Given the description of an element on the screen output the (x, y) to click on. 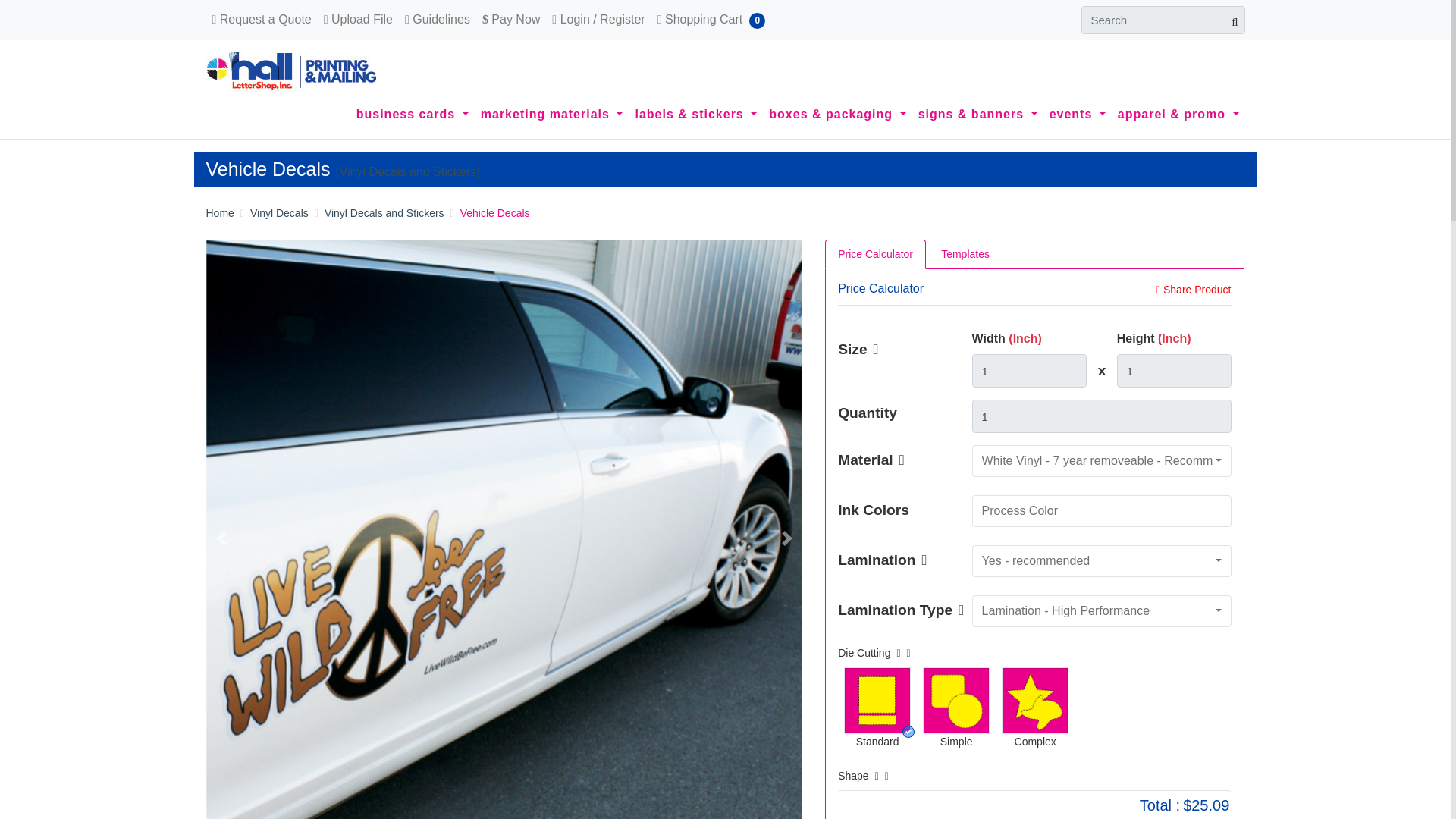
1 (1101, 416)
1 (1029, 370)
marketing materials (551, 114)
Request a Quote (261, 19)
Lamination - High Performance (1101, 611)
Pay Now (511, 19)
Guidelines (437, 19)
Upload File (357, 19)
Shopping Cart  0 (710, 19)
Process Color (1101, 511)
Yes - recommended (1101, 561)
1 (1173, 370)
White Vinyl - 7 year removeable - Recommended (1101, 460)
business cards (412, 114)
